Given the description of an element on the screen output the (x, y) to click on. 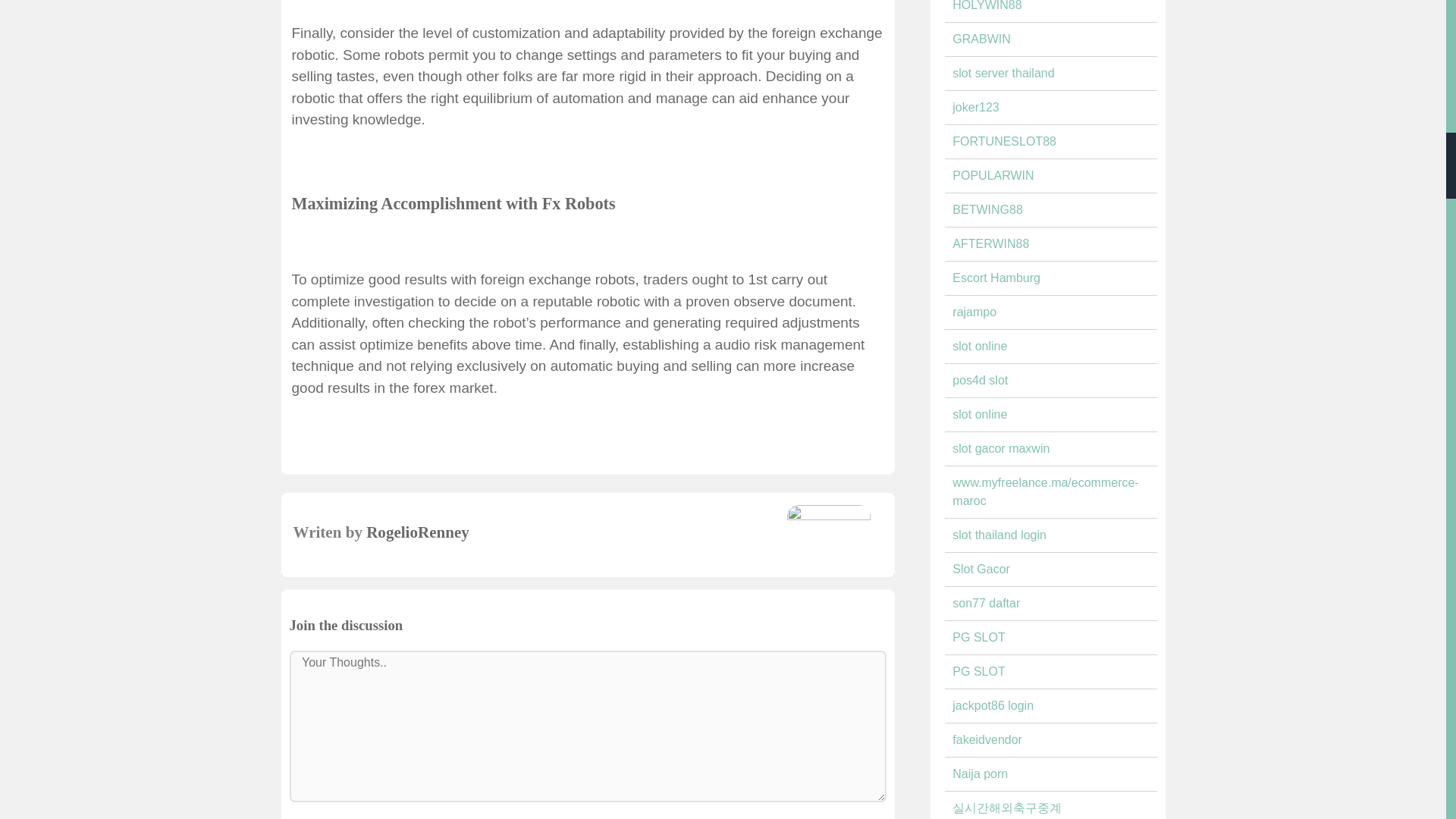
RogelioRenney (417, 532)
